Given the description of an element on the screen output the (x, y) to click on. 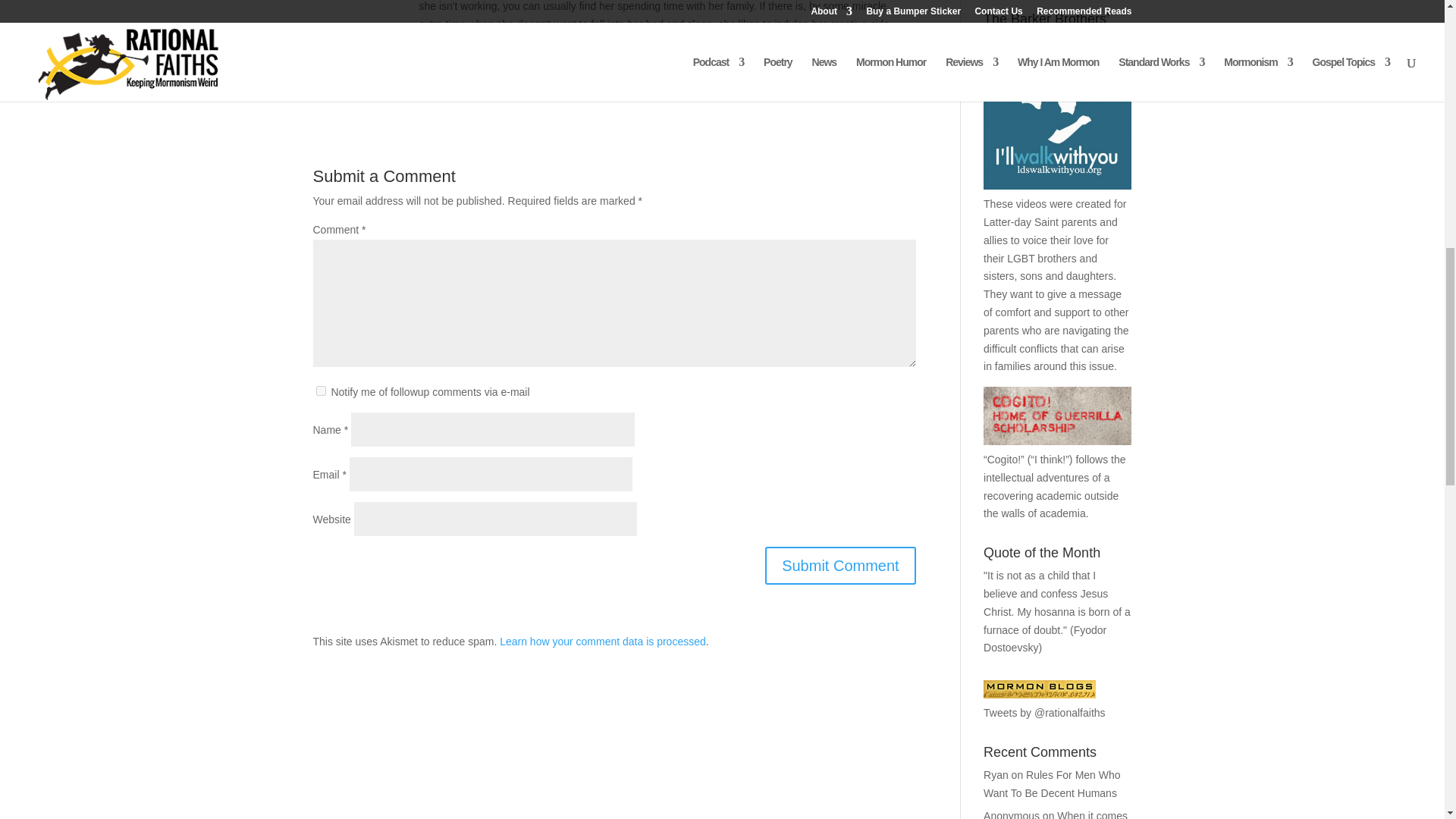
Submit Comment (840, 565)
Posts by Carrie Marsh (399, 89)
subscribe (319, 390)
